Given the description of an element on the screen output the (x, y) to click on. 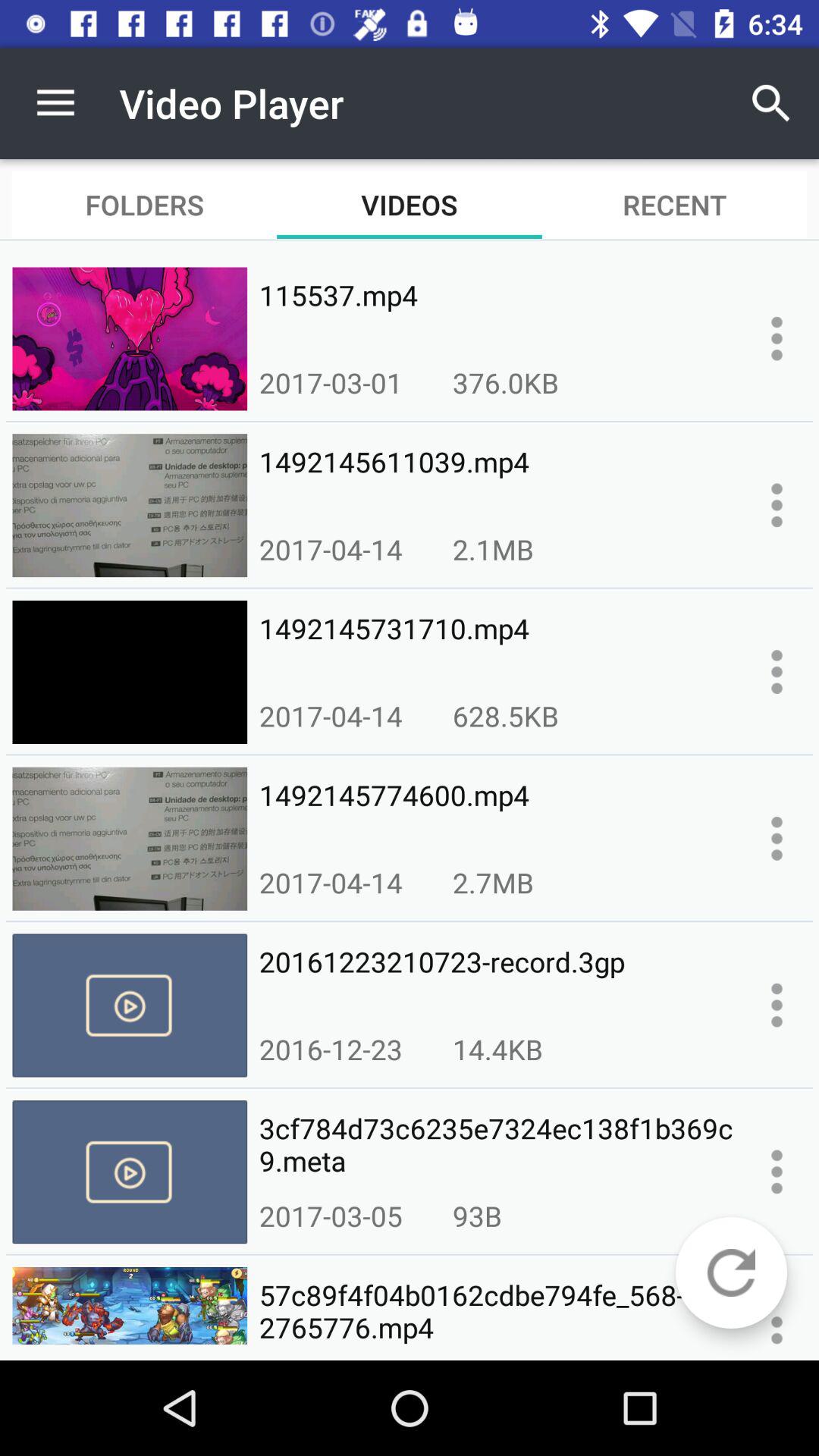
menu button (776, 838)
